Given the description of an element on the screen output the (x, y) to click on. 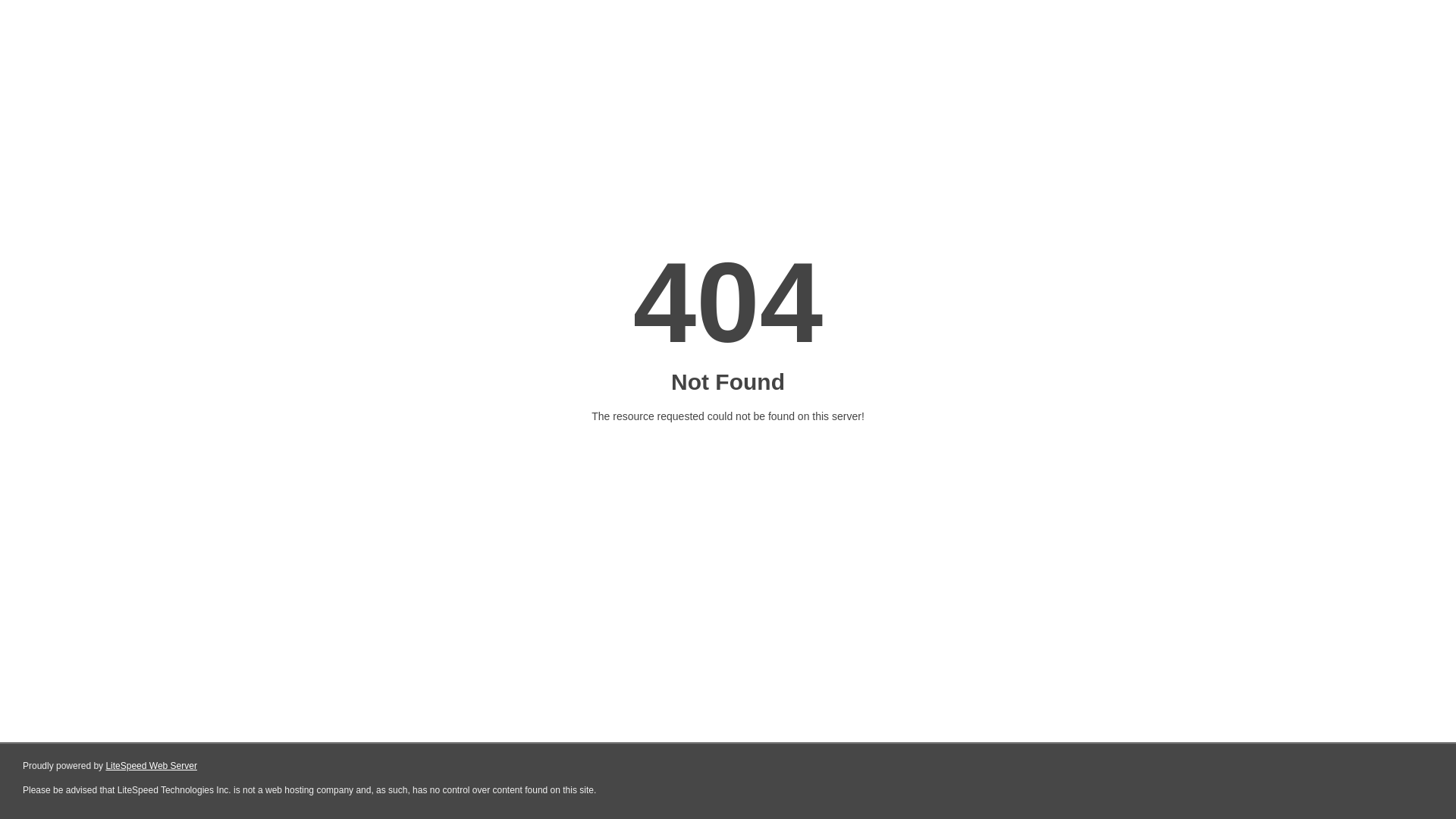
LiteSpeed Web Server Element type: text (151, 765)
